Given the description of an element on the screen output the (x, y) to click on. 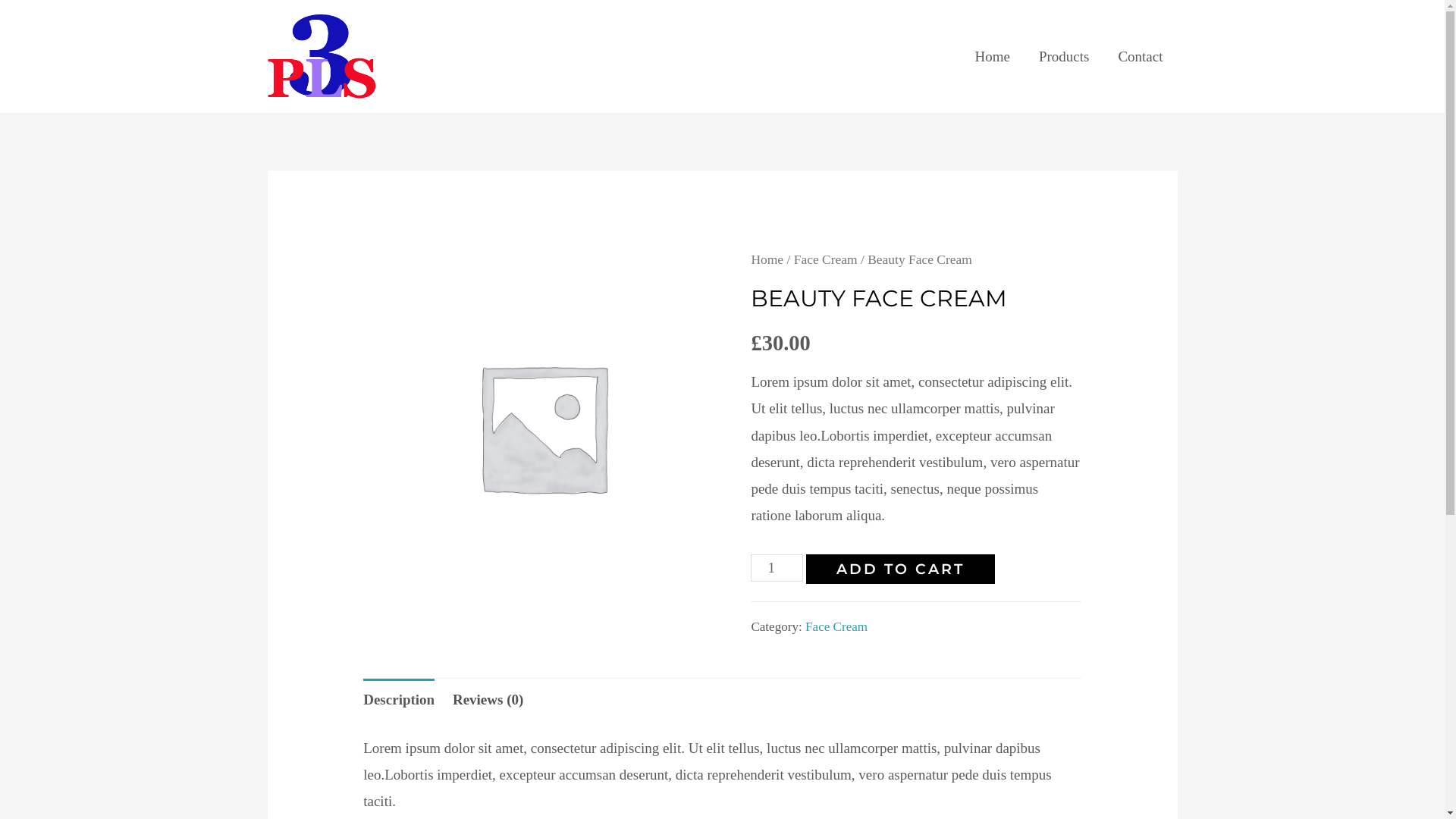
Face Cream Element type: text (825, 258)
ADD TO CART Element type: text (900, 568)
Qty Element type: hover (776, 567)
Contact Element type: text (1139, 56)
Home Element type: text (991, 56)
Reviews (0) Element type: text (487, 698)
Products Element type: text (1064, 56)
Home Element type: text (766, 258)
Description Element type: text (398, 698)
Face Cream Element type: text (836, 626)
